Given the description of an element on the screen output the (x, y) to click on. 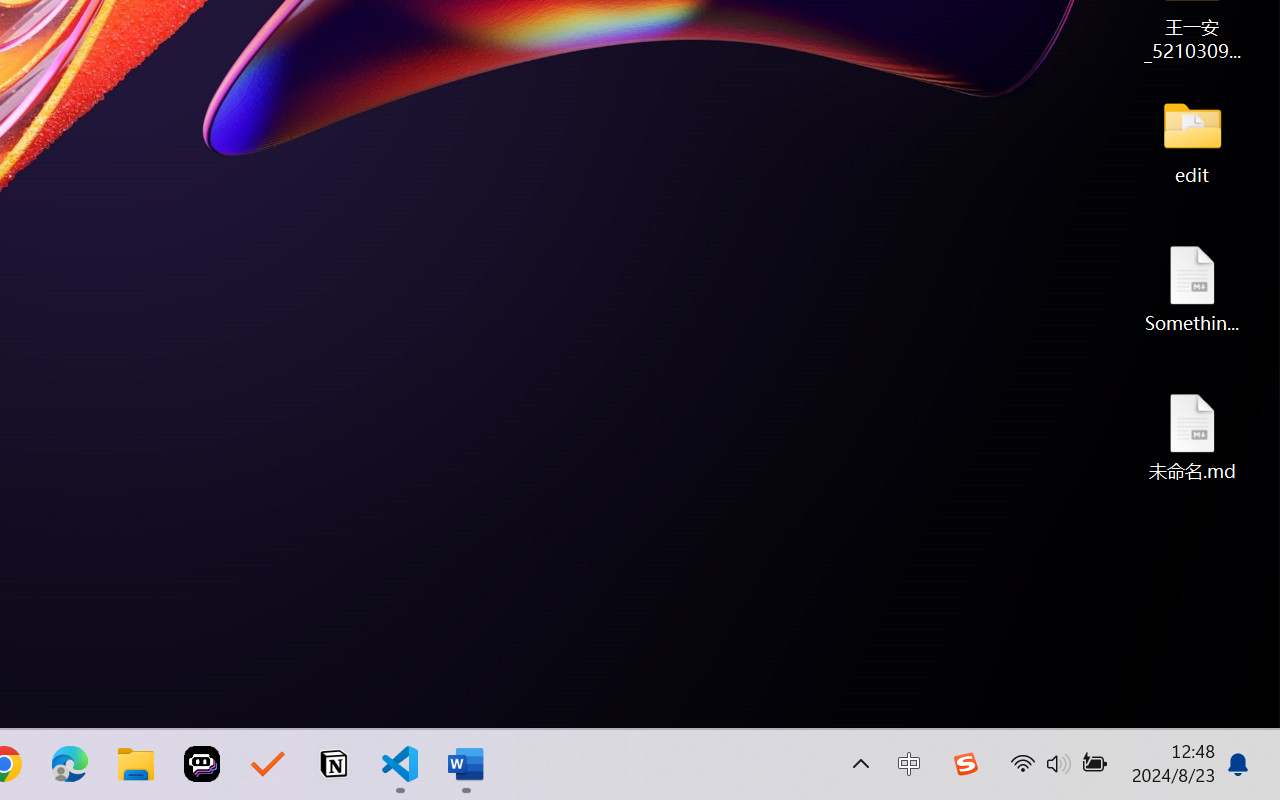
Something.md (1192, 288)
edit (1192, 140)
Microsoft Edge (69, 764)
